Given the description of an element on the screen output the (x, y) to click on. 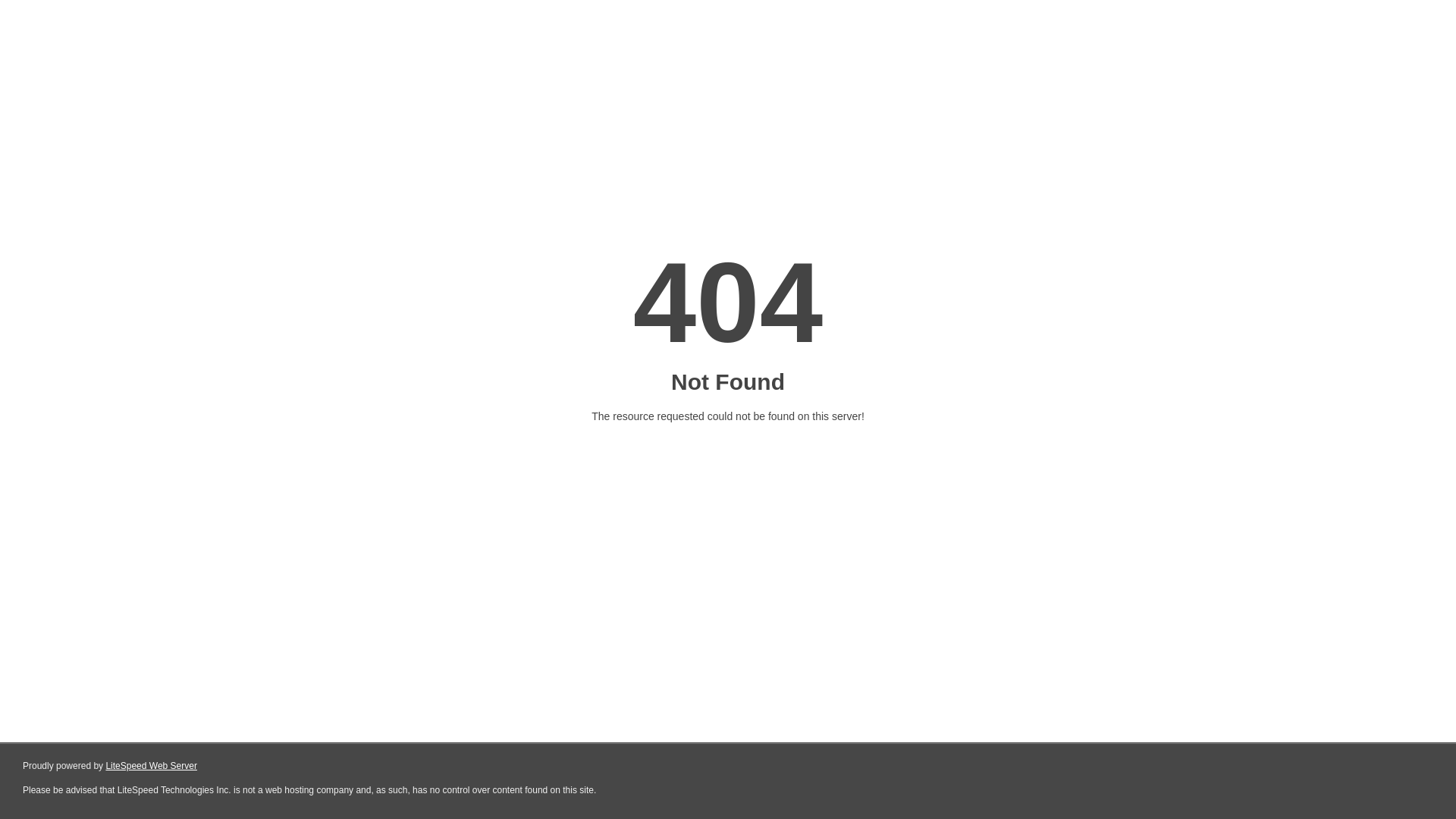
LiteSpeed Web Server Element type: text (151, 765)
